Given the description of an element on the screen output the (x, y) to click on. 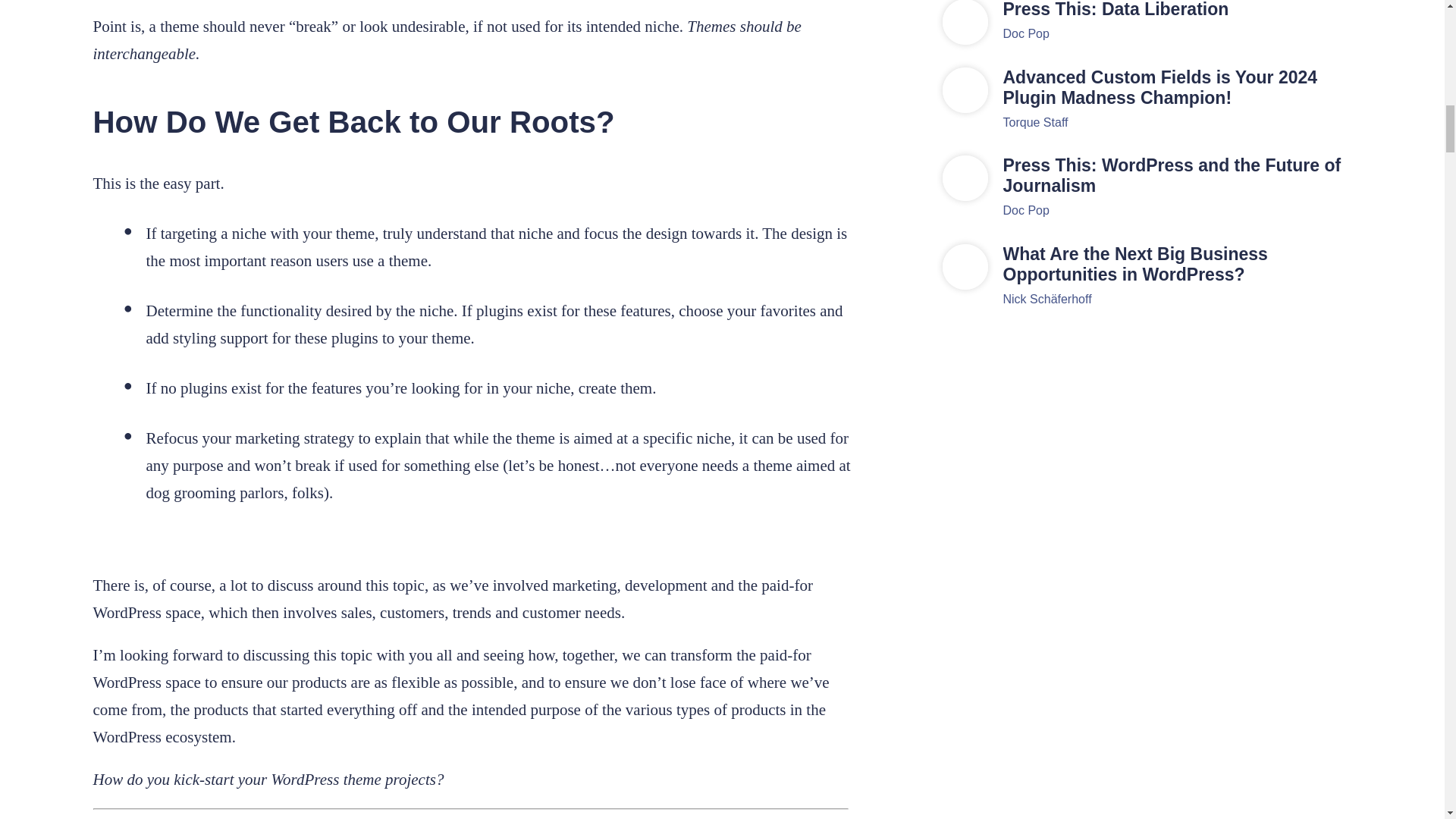
Doc Pop (1025, 33)
Press This: Data Liberation (1177, 9)
